Given the description of an element on the screen output the (x, y) to click on. 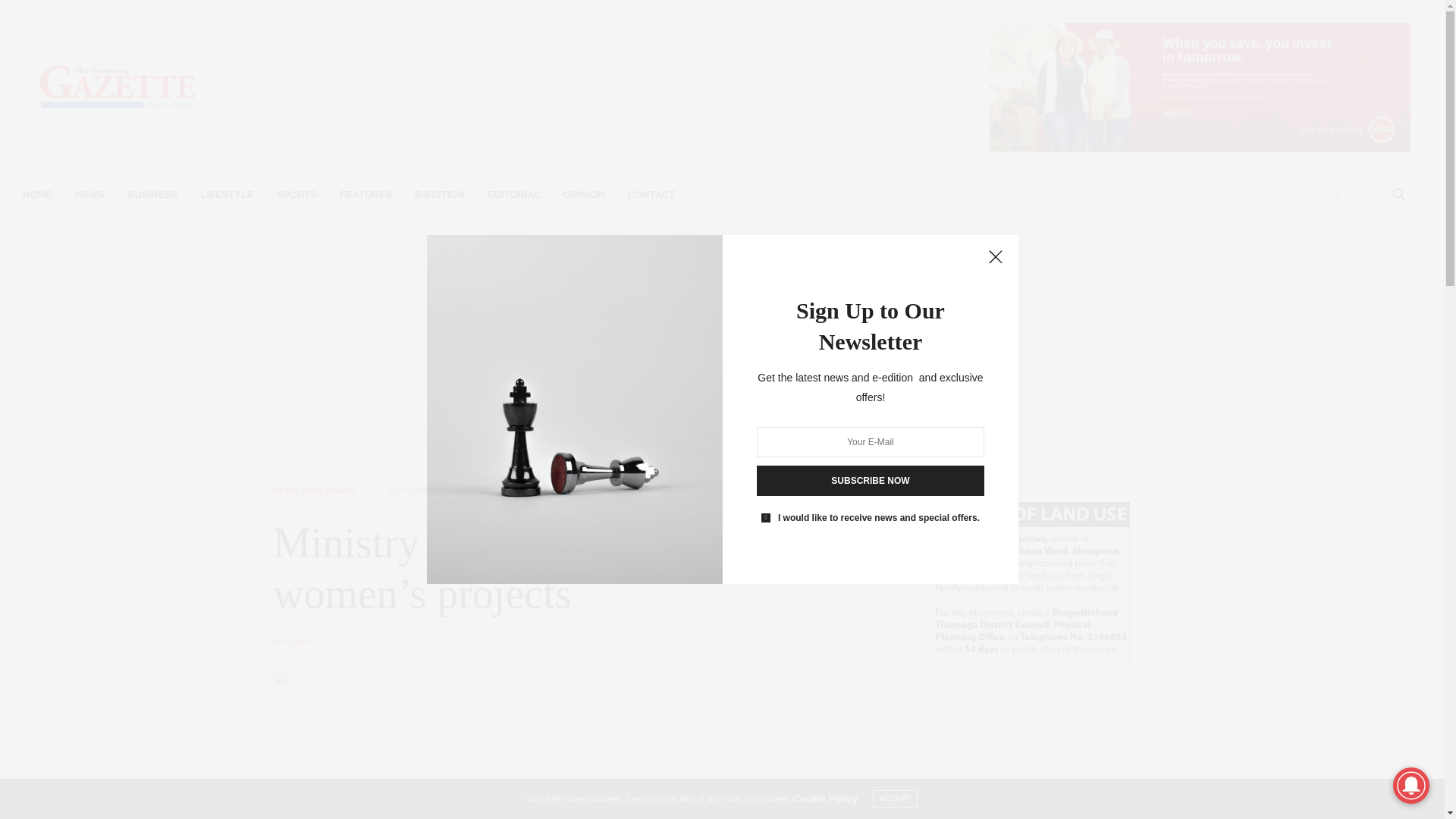
Posts by Admin (296, 641)
BUSINESS (152, 193)
PARLIAMENT (329, 490)
LIFESTYLE (226, 193)
SUBSCRIBE NOW (870, 481)
CONTACT (651, 193)
SPORTS (296, 193)
Scroll To Top (1408, 782)
Botswana Gazette (117, 86)
E-EDITION (439, 193)
EDITORIAL (513, 193)
OPINION (584, 193)
ADMIN (296, 641)
FEATURES (365, 193)
